Given the description of an element on the screen output the (x, y) to click on. 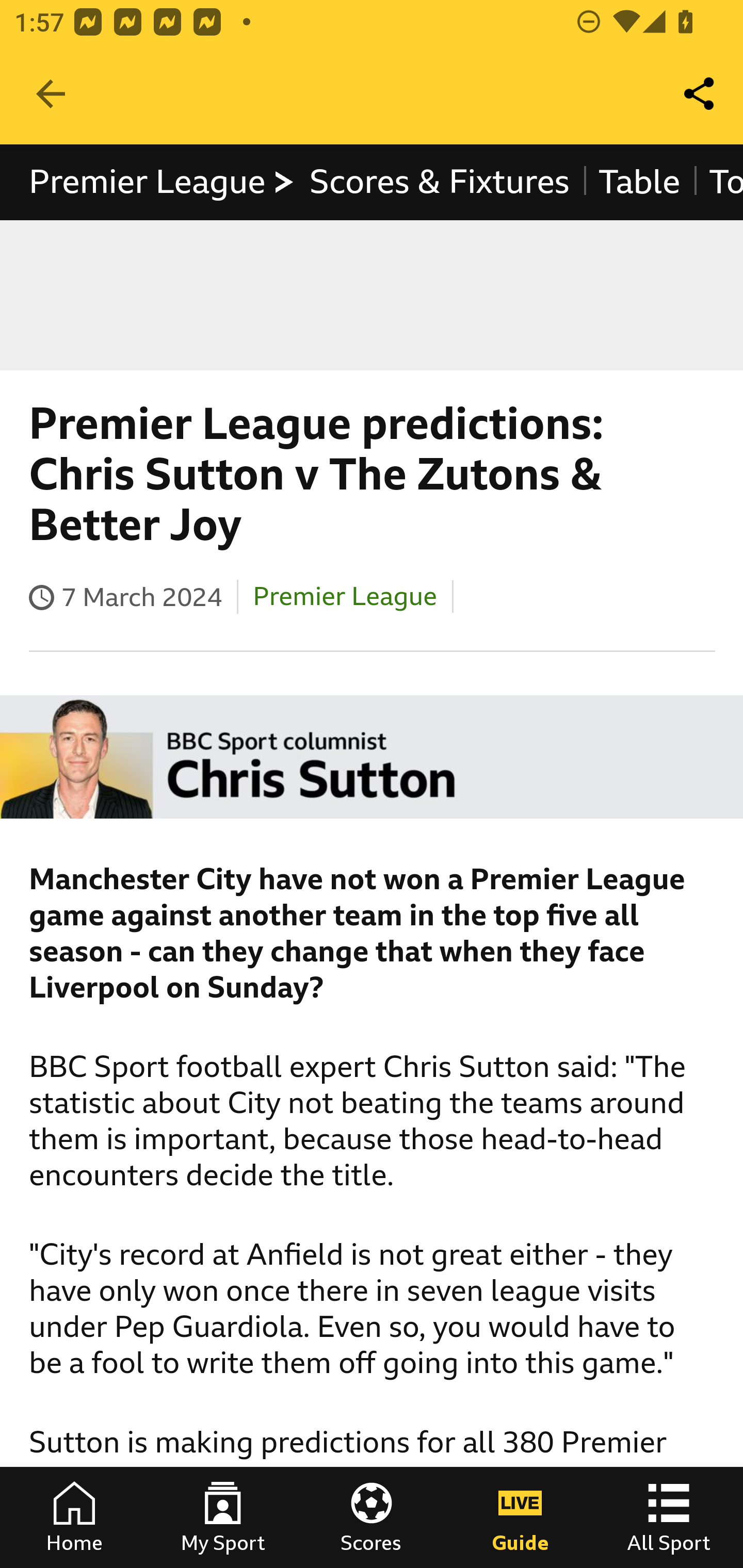
Navigate up (50, 93)
Share (699, 93)
Premier League  (162, 181)
Scores & Fixtures (439, 181)
Table (638, 181)
Premier League (345, 596)
Home (74, 1517)
My Sport (222, 1517)
Scores (371, 1517)
All Sport (668, 1517)
